Given the description of an element on the screen output the (x, y) to click on. 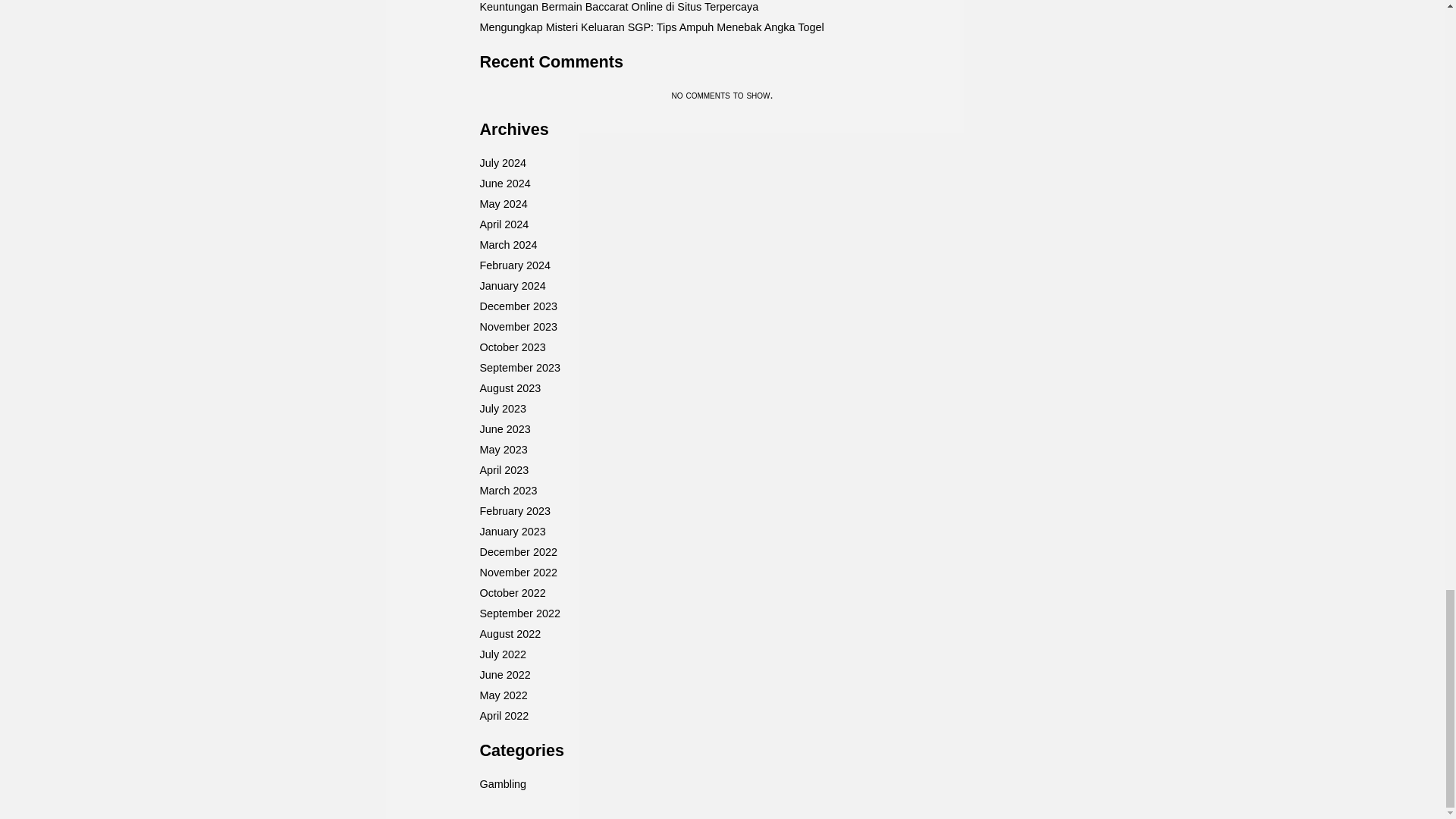
January 2024 (511, 285)
July 2022 (502, 654)
July 2023 (502, 408)
April 2024 (503, 224)
May 2023 (503, 449)
February 2024 (514, 265)
August 2023 (509, 387)
June 2022 (504, 674)
October 2022 (511, 592)
April 2022 (503, 715)
February 2023 (514, 510)
July 2024 (502, 162)
Keuntungan Bermain Baccarat Online di Situs Terpercaya (618, 6)
October 2023 (511, 346)
